Given the description of an element on the screen output the (x, y) to click on. 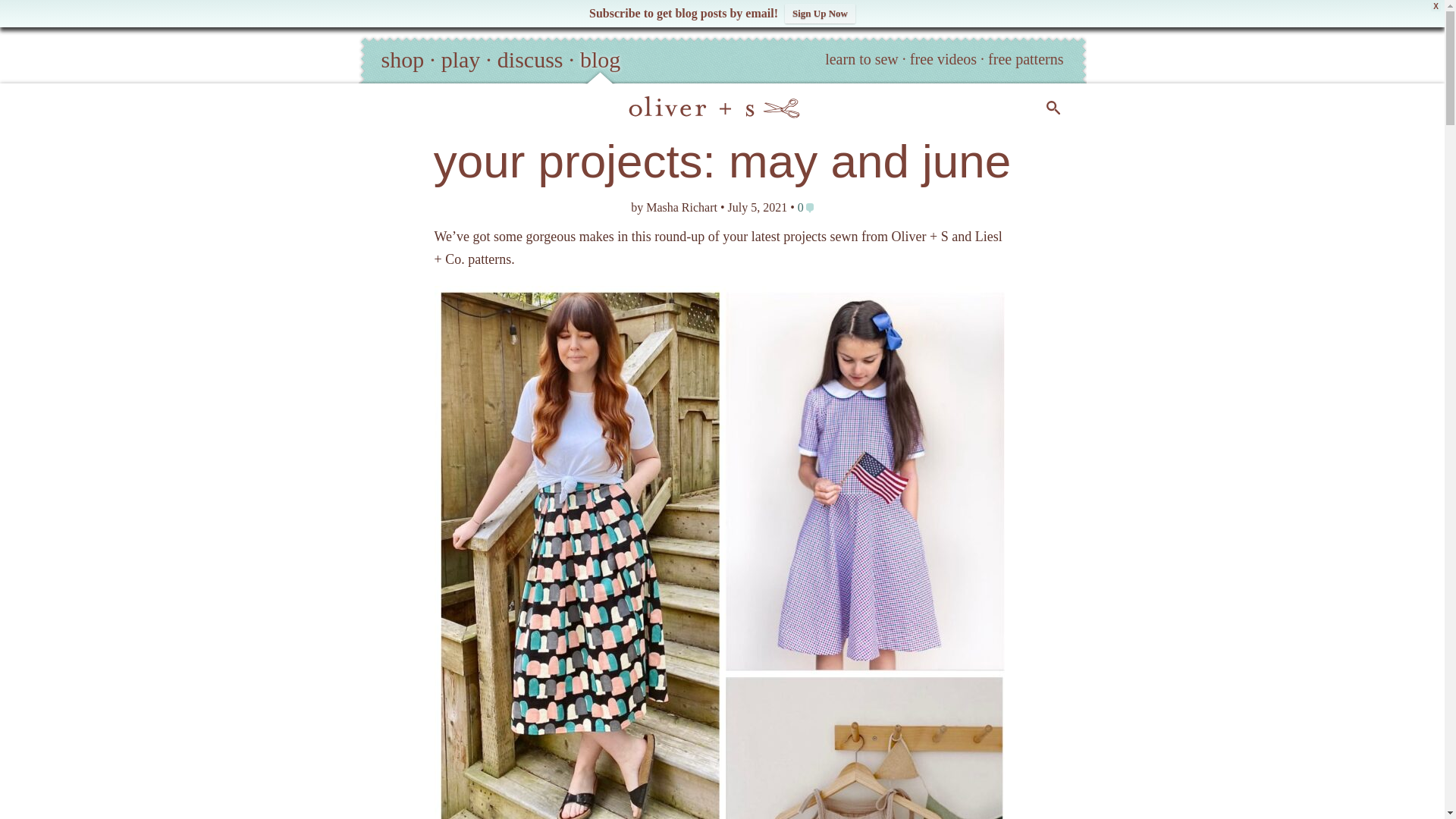
shop (401, 59)
Sign Up Now (820, 13)
free videos (943, 58)
free patterns (1025, 58)
blog (599, 59)
learn to sew (861, 58)
discuss (530, 59)
play (460, 59)
